Given the description of an element on the screen output the (x, y) to click on. 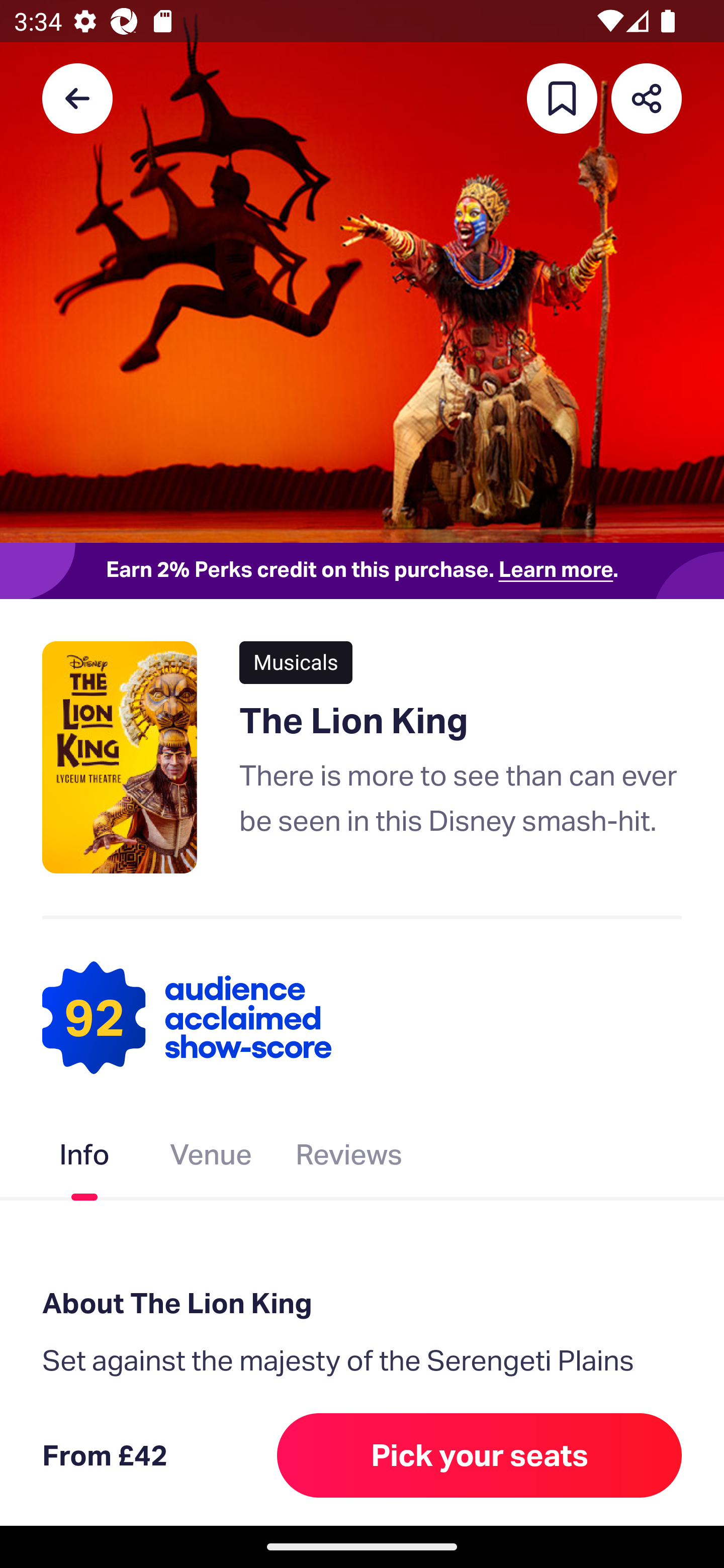
Earn 2% Perks credit on this purchase. Learn more. (362, 570)
Venue (210, 1158)
Reviews (348, 1158)
About The Lion King (361, 1303)
Pick your seats (479, 1454)
